Given the description of an element on the screen output the (x, y) to click on. 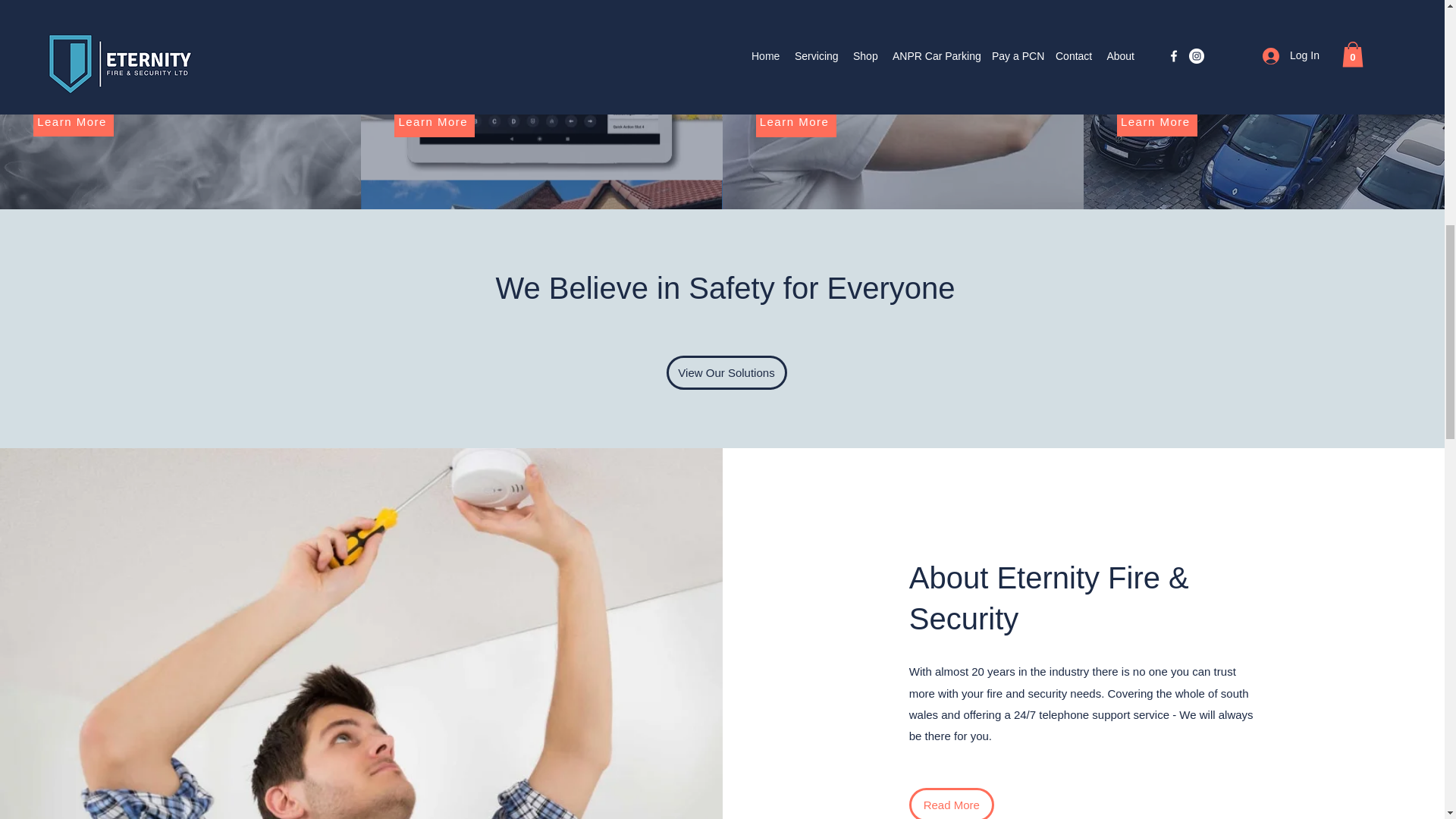
Learn More (434, 122)
Learn More (795, 122)
Read More (951, 803)
Learn More (1156, 121)
Learn More (73, 121)
View Our Solutions (725, 372)
